Given the description of an element on the screen output the (x, y) to click on. 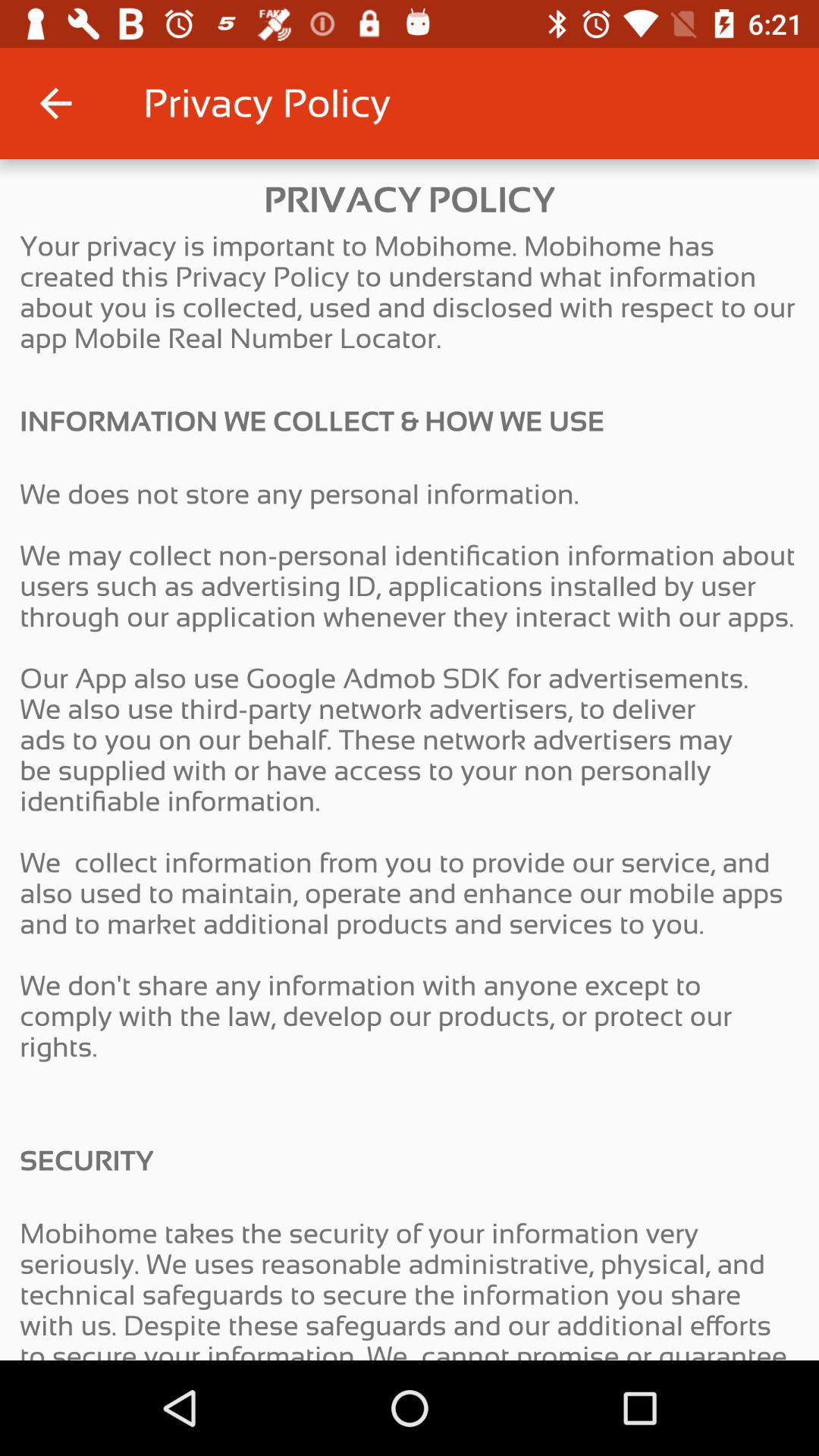
tap the icon above your privacy is icon (55, 103)
